Given the description of an element on the screen output the (x, y) to click on. 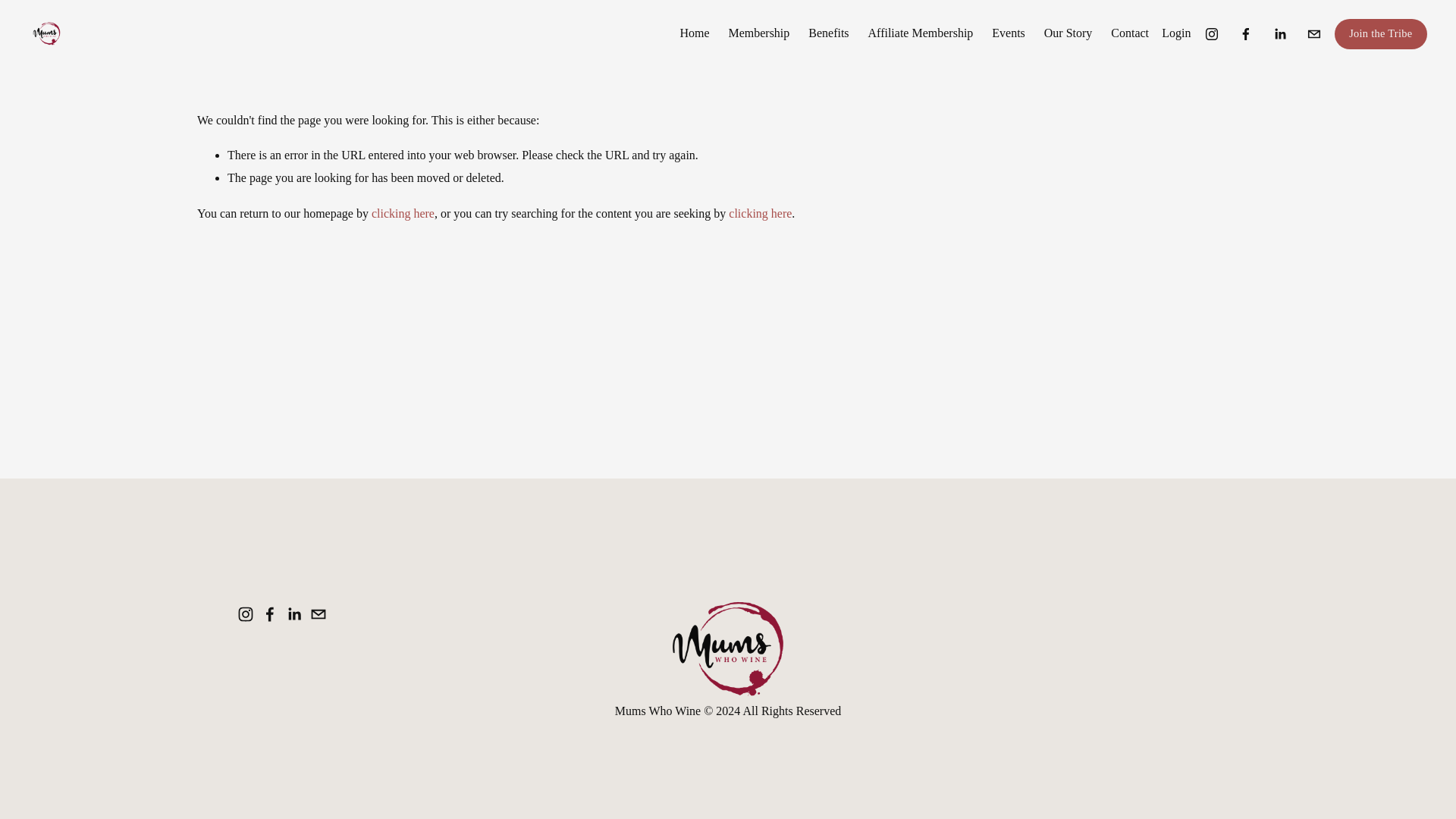
Login (1176, 33)
Events (1008, 33)
Benefits (828, 33)
Affiliate Membership (920, 33)
Home (694, 33)
Our Story (1068, 33)
Membership (758, 33)
Contact (1129, 33)
Join the Tribe (1380, 33)
